Given the description of an element on the screen output the (x, y) to click on. 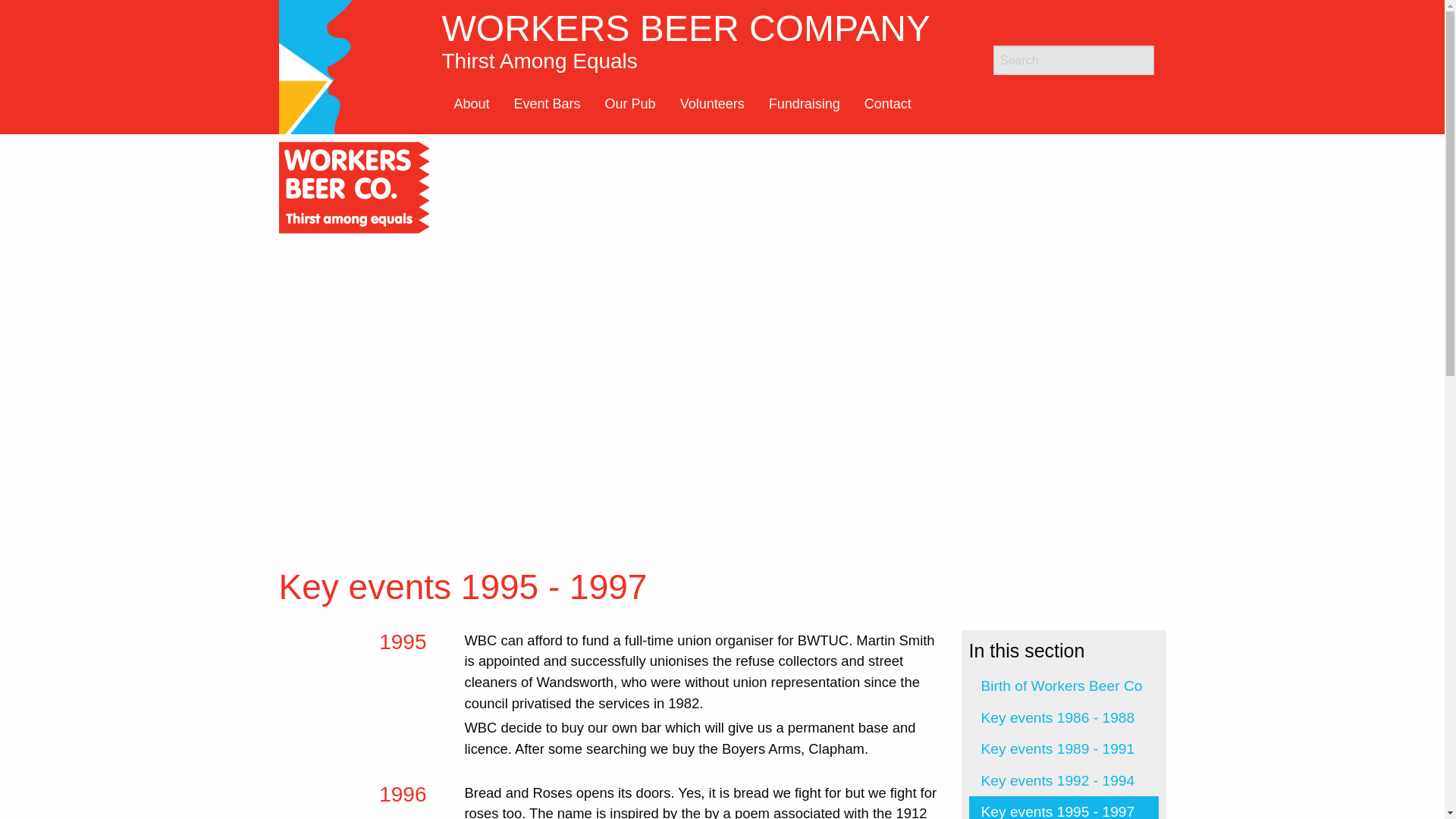
Key events 1989 - 1991 (1063, 748)
Key events 1992 - 1994 (1063, 780)
Key events 1995 - 1997 (1063, 807)
About (705, 40)
Contact (470, 103)
Birth of Workers Beer Co (887, 103)
Our Pub (1063, 685)
Fundraising (630, 103)
Volunteers (804, 103)
Key events 1986 - 1988 (712, 103)
Event Bars (1063, 717)
